Given the description of an element on the screen output the (x, y) to click on. 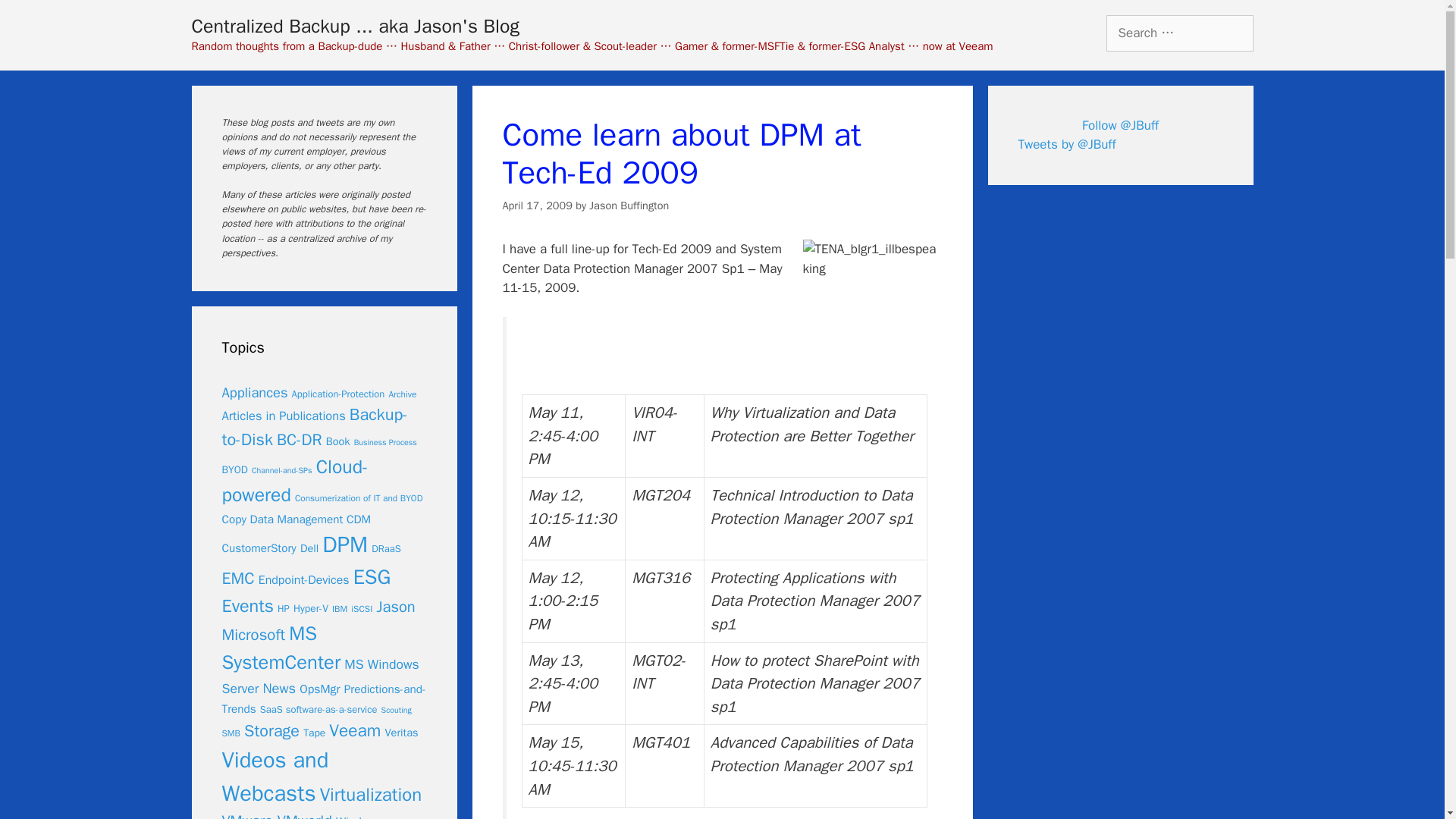
EMC (237, 578)
Copy Data Management CDM (296, 519)
BC-DR (298, 439)
View all posts by Jason Buffington (628, 205)
DRaaS (386, 548)
DPM (344, 544)
HP (283, 608)
Channel-and-SPs (282, 470)
Consumerization of IT and BYOD (359, 498)
Application-Protection (338, 394)
Centralized Backup ... aka Jason's Blog (354, 25)
Articles in Publications (283, 415)
Book (338, 440)
Dell (308, 548)
ESG (372, 576)
